Given the description of an element on the screen output the (x, y) to click on. 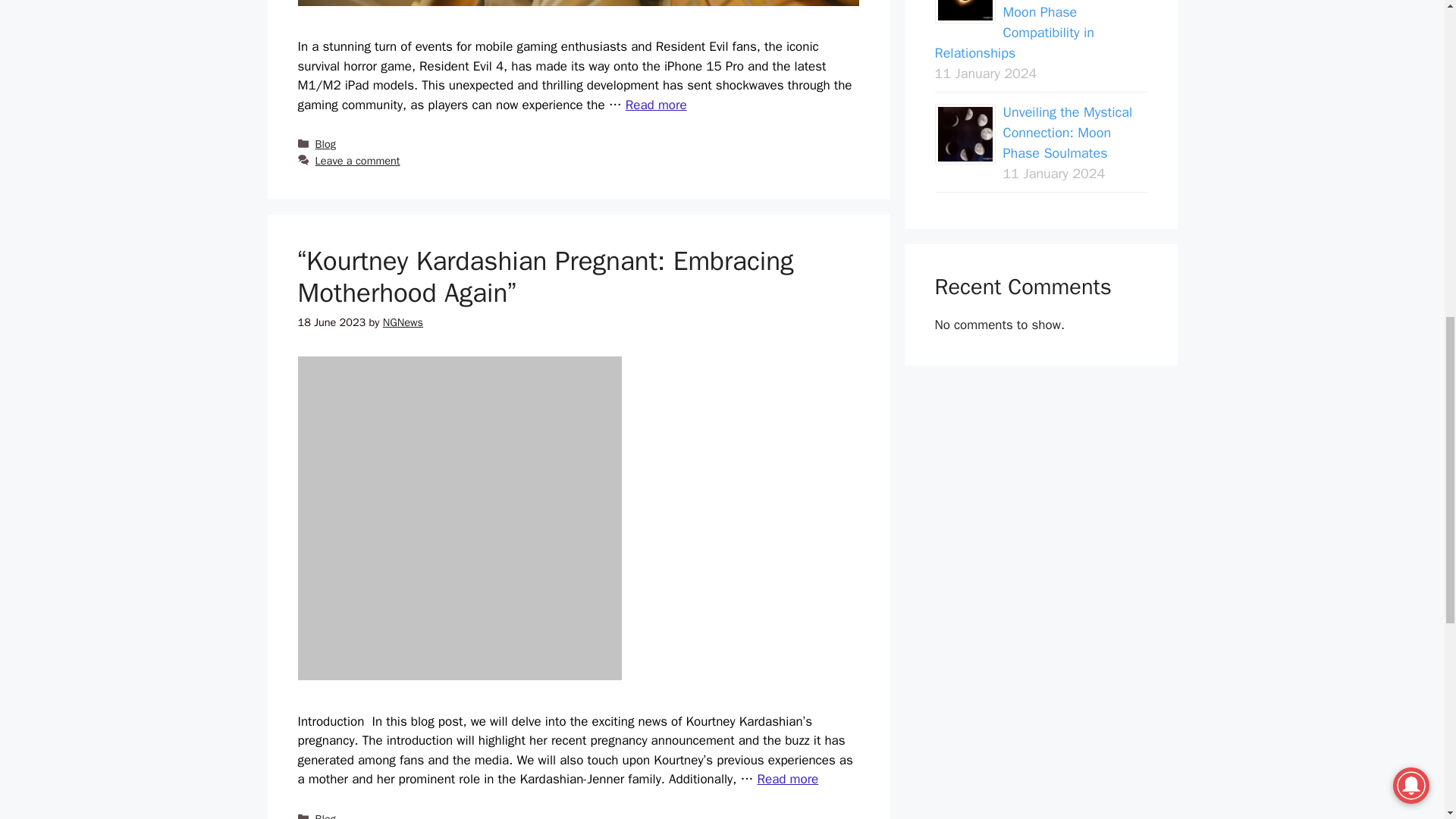
Read more (656, 105)
Blog (325, 815)
View all posts by NGNews (402, 322)
Leave a comment (357, 160)
Scroll back to top (1406, 720)
Read more (787, 779)
Blog (325, 143)
NGNews (402, 322)
